Given the description of an element on the screen output the (x, y) to click on. 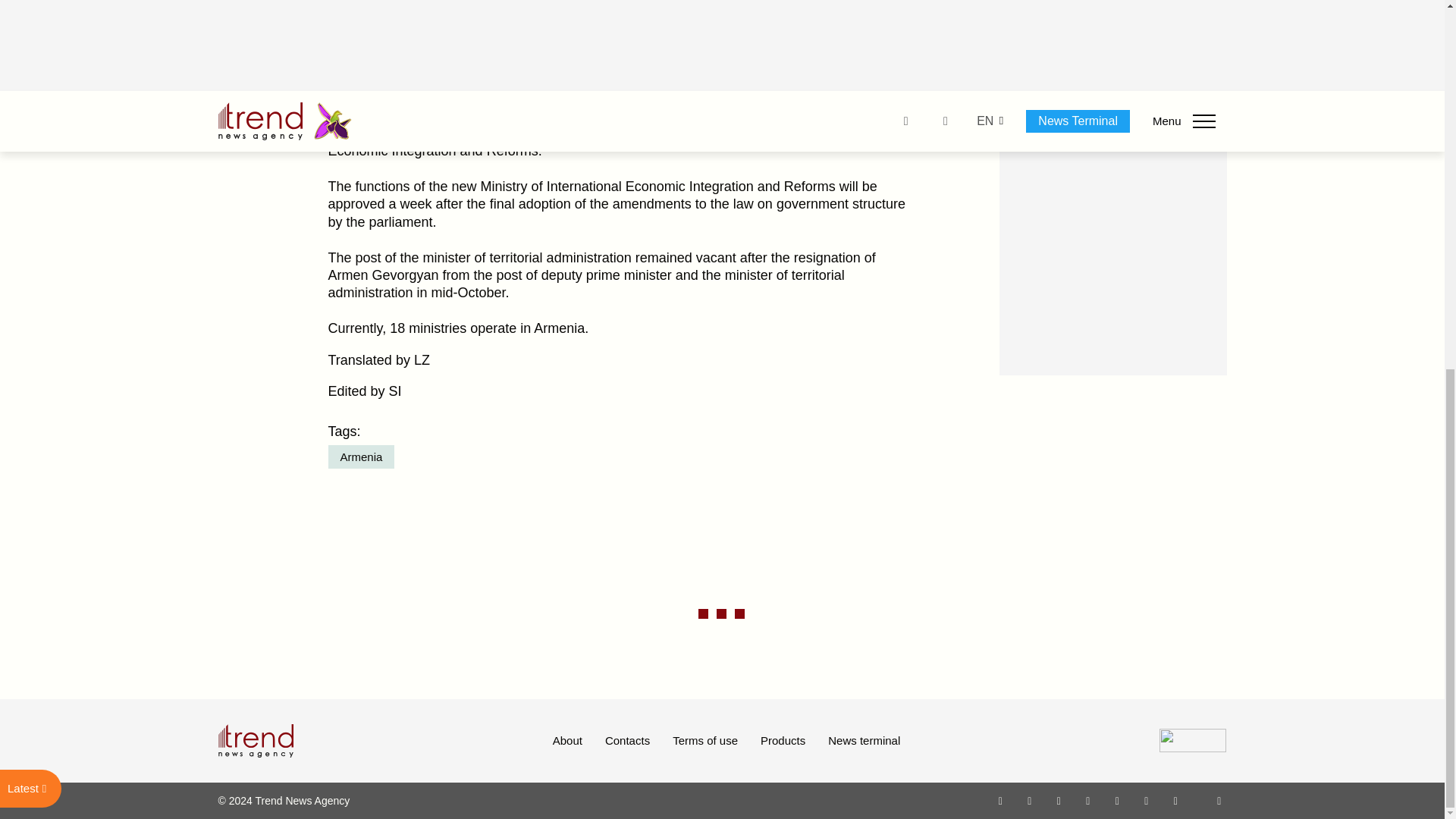
Telegram (1117, 800)
RSS Feed (1219, 800)
Twitter (1059, 800)
Whatsapp (1000, 800)
Youtube (1088, 800)
Facebook (1029, 800)
LinkedIn (1146, 800)
Android App (1176, 800)
